Given the description of an element on the screen output the (x, y) to click on. 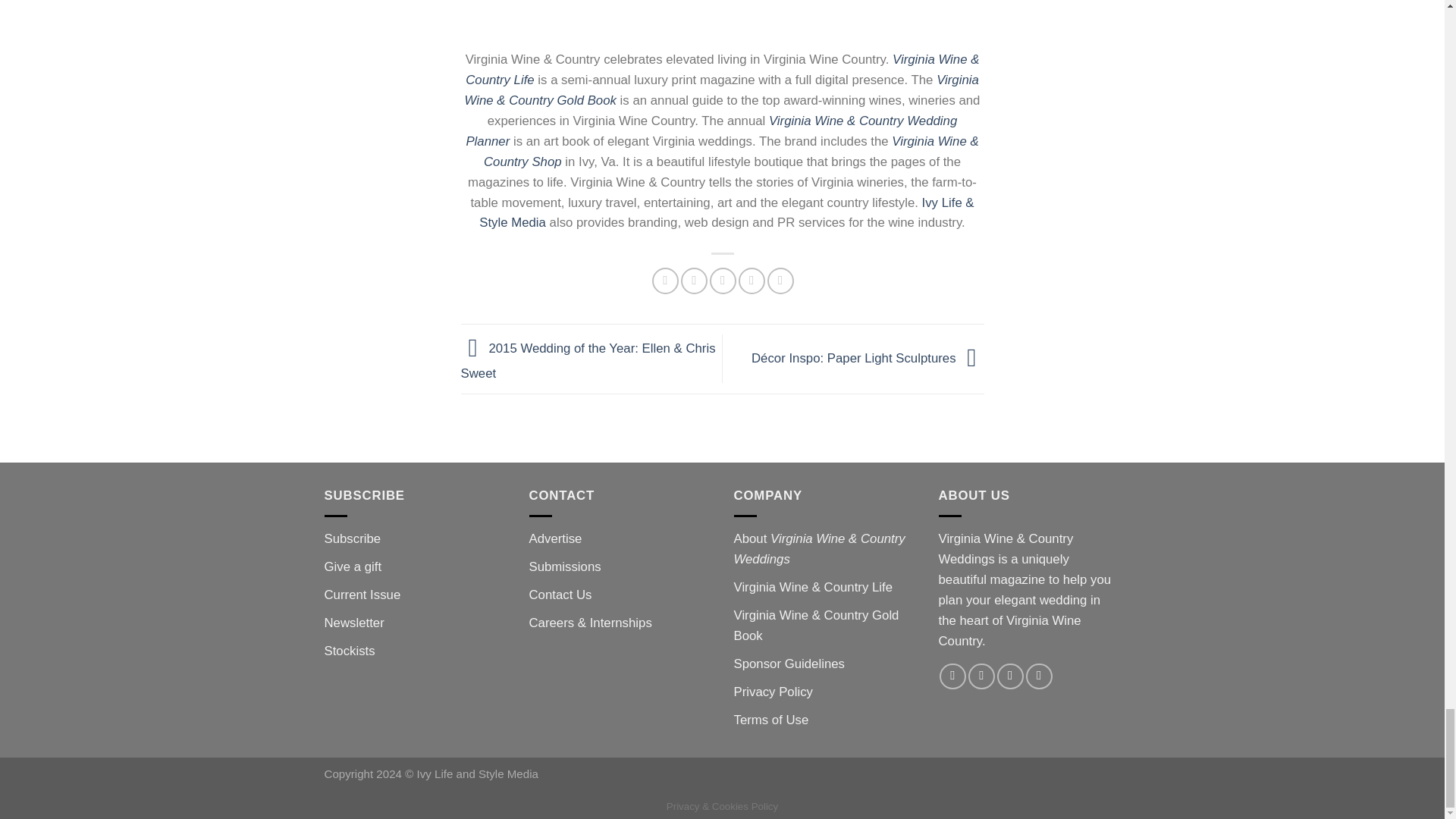
Share on Twitter (694, 280)
Follow on Pinterest (1039, 676)
Email to a Friend (723, 280)
Follow on Instagram (981, 676)
Share on LinkedIn (780, 280)
Follow on Facebook (952, 676)
Pin on Pinterest (751, 280)
Send us an email (1010, 676)
Share on Facebook (665, 280)
